Given the description of an element on the screen output the (x, y) to click on. 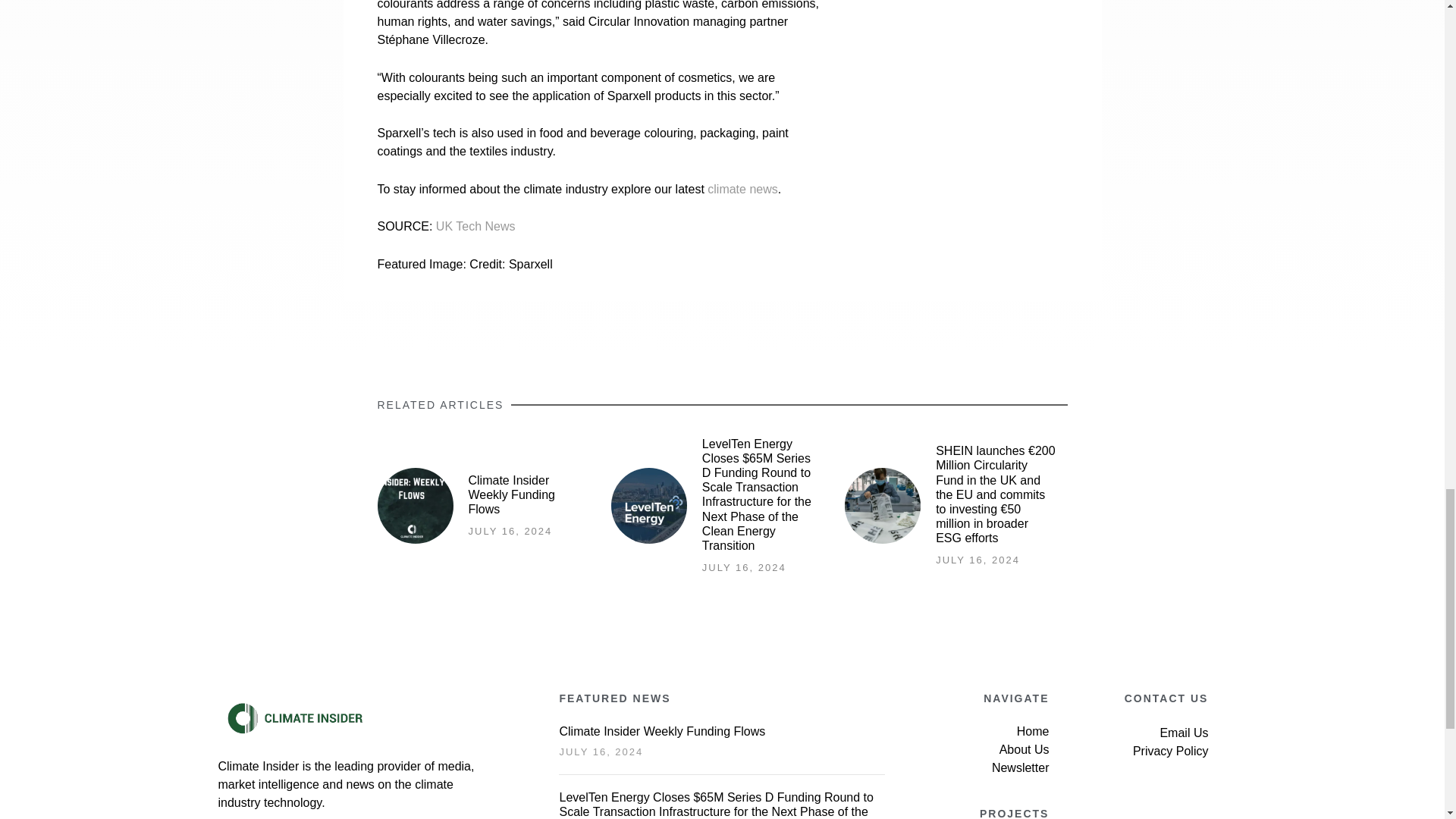
output-onlinepngtools (293, 717)
